Given the description of an element on the screen output the (x, y) to click on. 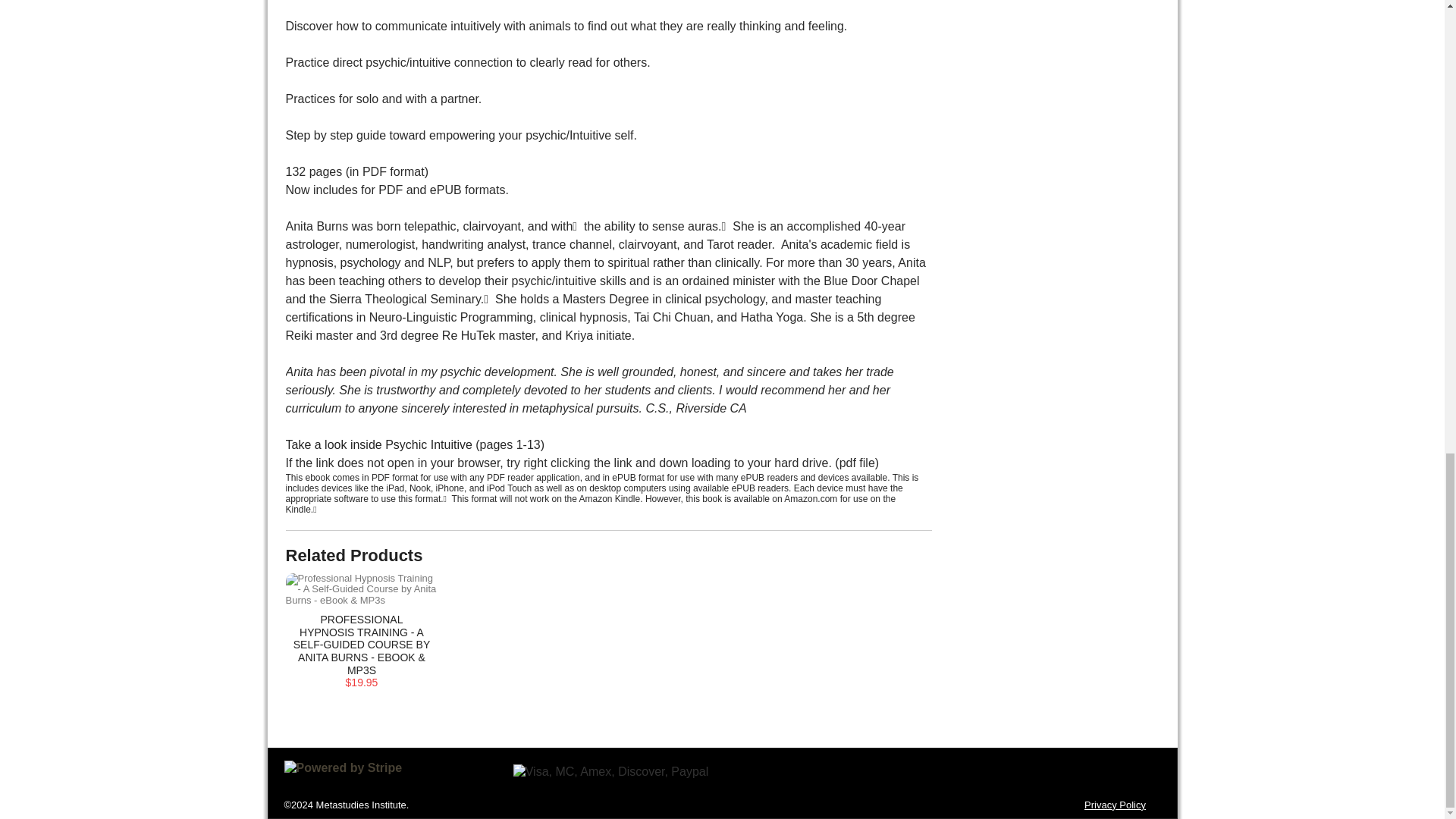
Take a look inside Psychic Intuitive (378, 444)
Visa, MC, Amex, Discover, Paypal (611, 771)
